Given the description of an element on the screen output the (x, y) to click on. 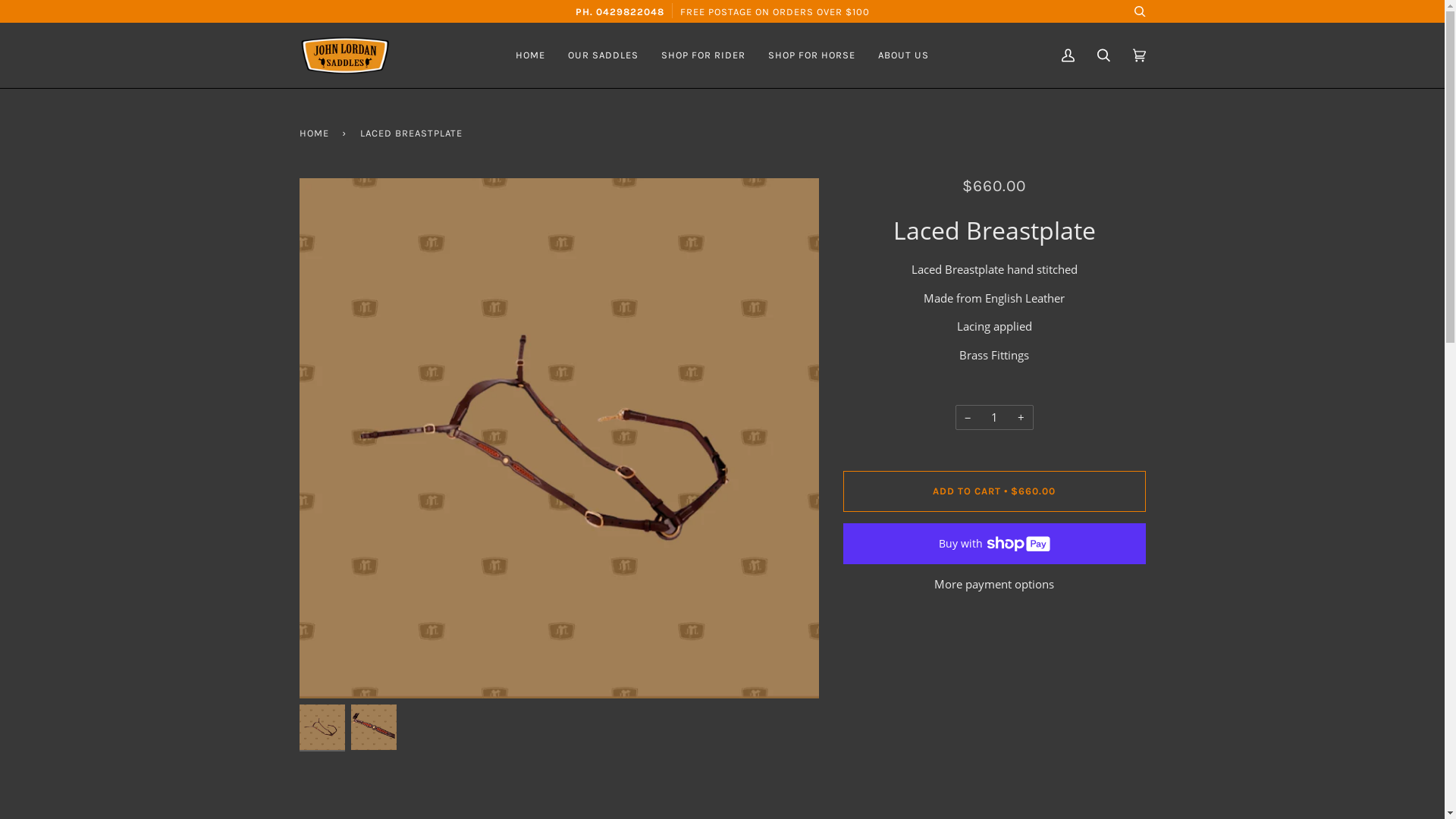
Search Element type: text (1103, 54)
More payment options Element type: text (994, 583)
SHOP FOR HORSE Element type: text (811, 54)
Cart
(0) Element type: text (1138, 54)
ABOUT US Element type: text (903, 54)
SHOP FOR RIDER Element type: text (702, 54)
OUR SADDLES Element type: text (602, 54)
HOME Element type: text (530, 54)
My Account Element type: text (1067, 54)
HOME Element type: text (315, 133)
